Given the description of an element on the screen output the (x, y) to click on. 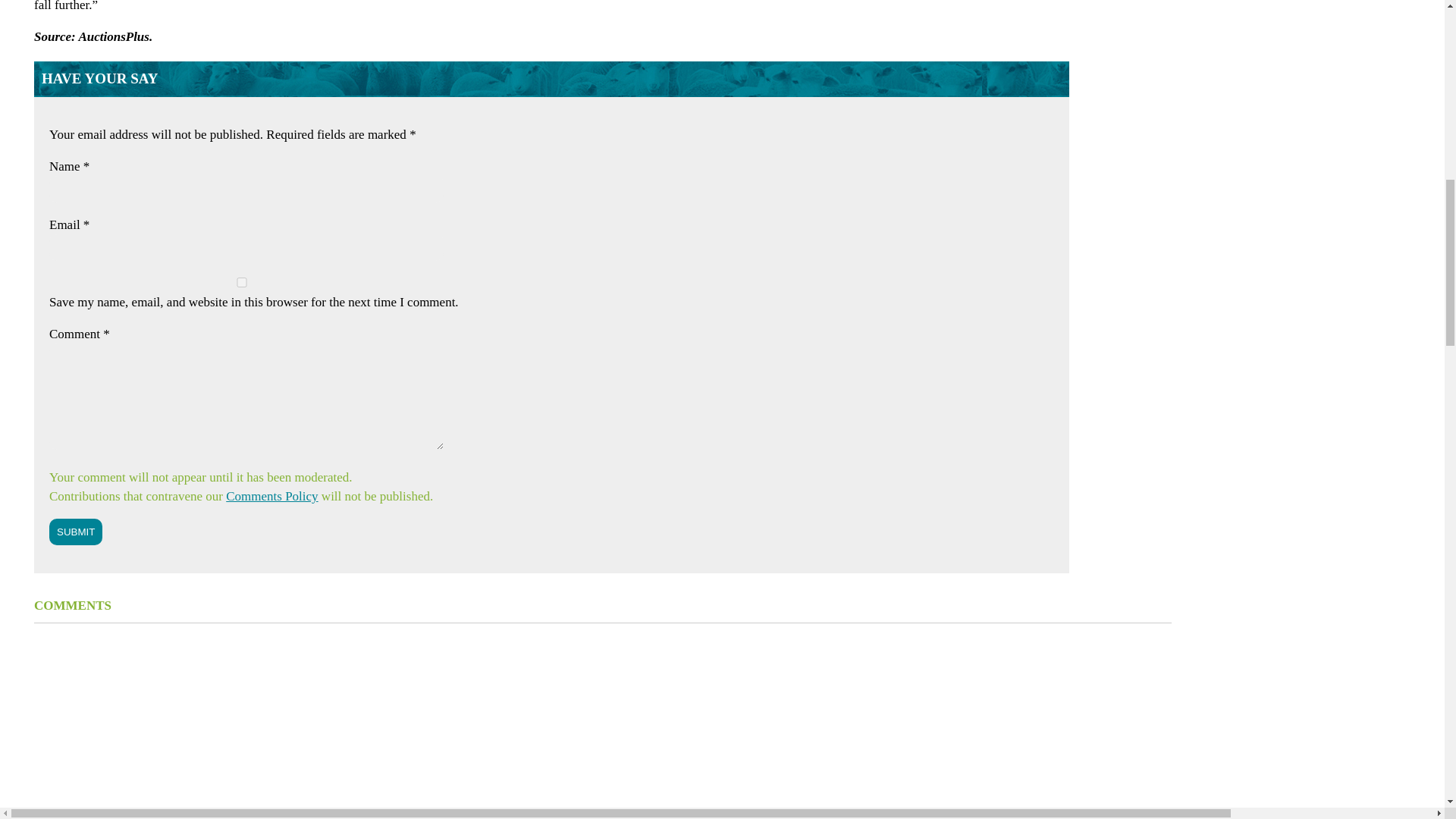
3rd party ad content (1296, 536)
3rd party ad content (1296, 183)
3rd party ad content (1296, 733)
3rd party ad content (1296, 93)
yes (241, 282)
SUBMIT (75, 531)
3rd party ad content (1296, 20)
3rd party ad content (1296, 331)
